Given the description of an element on the screen output the (x, y) to click on. 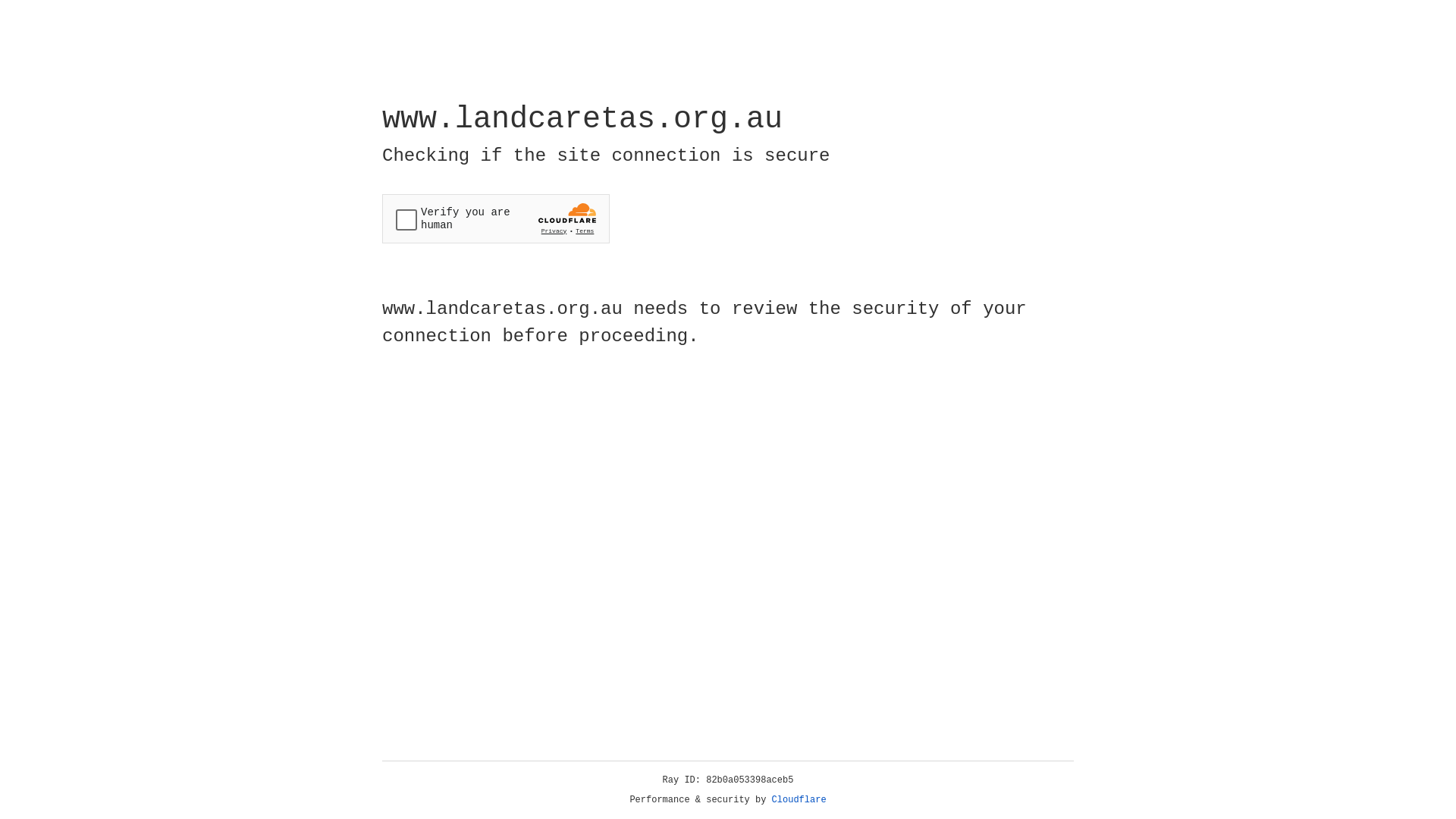
Widget containing a Cloudflare security challenge Element type: hover (495, 218)
Cloudflare Element type: text (798, 799)
